Given the description of an element on the screen output the (x, y) to click on. 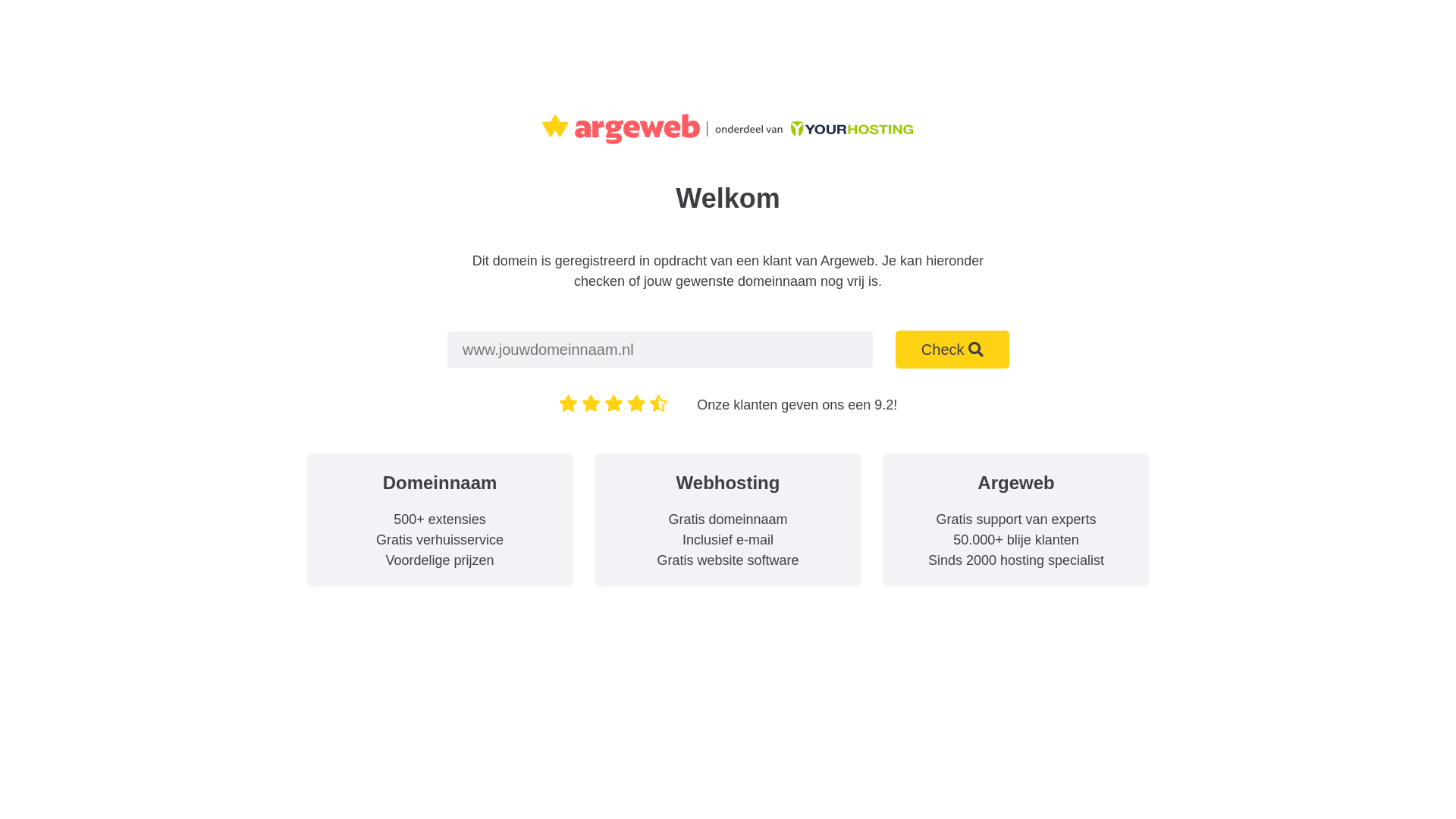
Check Element type: text (952, 349)
